Given the description of an element on the screen output the (x, y) to click on. 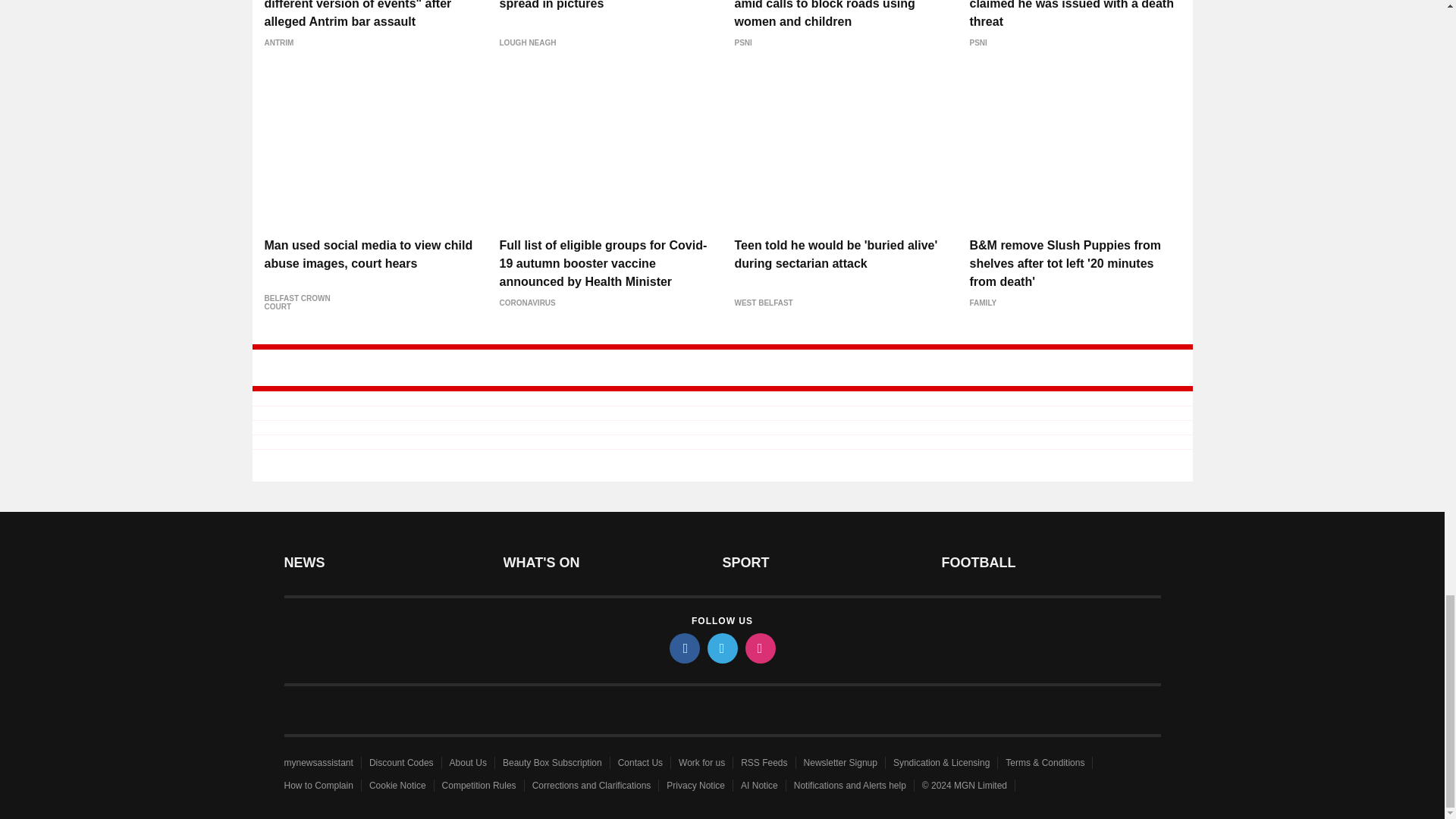
twitter (721, 648)
facebook (683, 648)
instagram (759, 648)
